Given the description of an element on the screen output the (x, y) to click on. 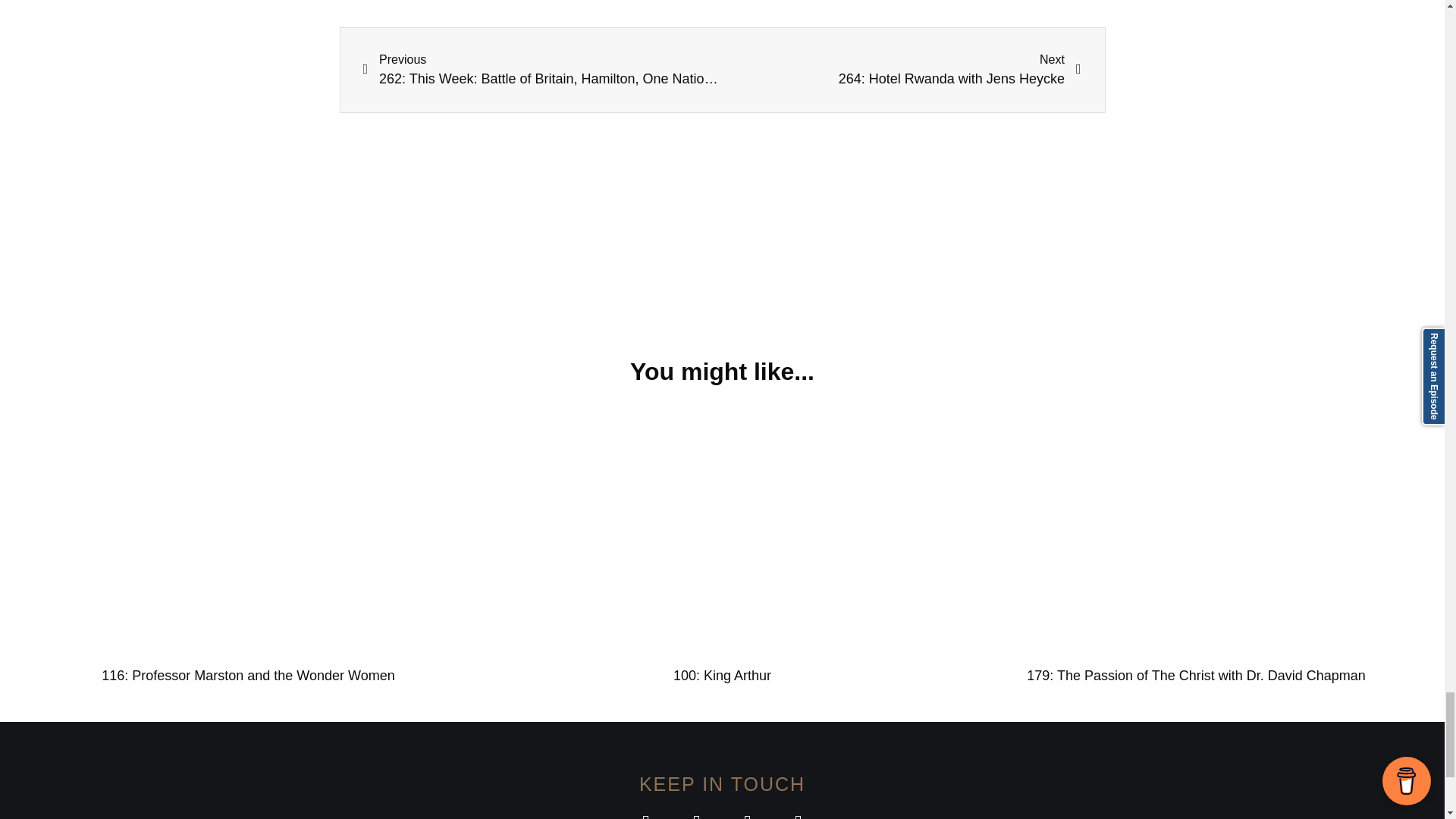
100: King Arthur (901, 69)
116: Professor Marston and the Wonder Women (721, 675)
179: The Passion of The Christ with Dr. David Chapman (247, 675)
